Given the description of an element on the screen output the (x, y) to click on. 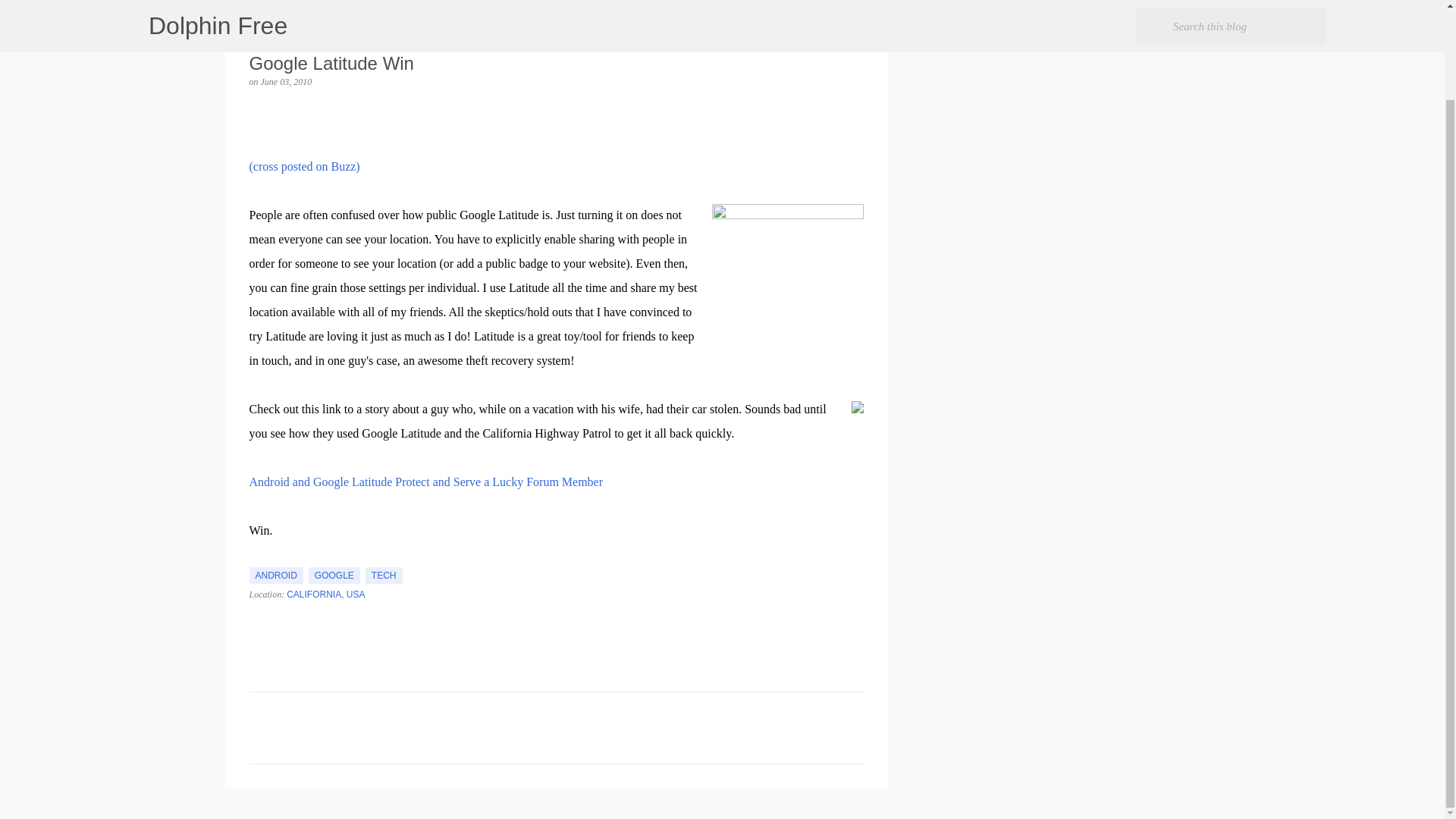
ANDROID (275, 575)
Email Post (257, 557)
CALIFORNIA, USA (325, 593)
permanent link (286, 81)
GOOGLE (333, 575)
June 03, 2010 (286, 81)
TECH (384, 575)
